Given the description of an element on the screen output the (x, y) to click on. 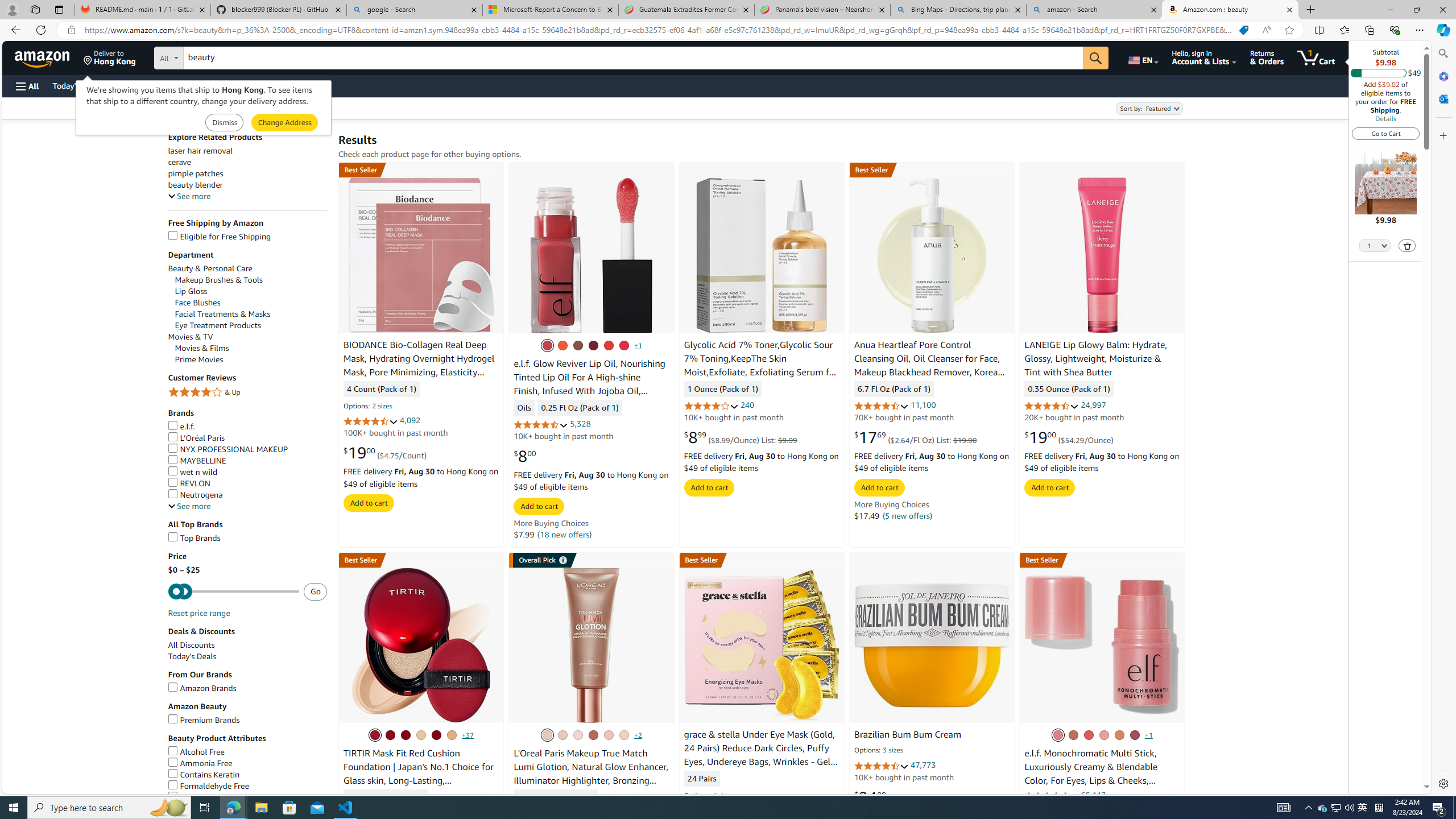
240 (746, 404)
Lip Gloss (191, 290)
Facial Treatments & Masks (250, 314)
Rose Envy (546, 344)
4,092 (410, 420)
65,113 (1093, 794)
Go (1096, 57)
Eligible for Free Shipping (247, 236)
Beauty & Personal Care (247, 268)
cerave (247, 162)
NYX PROFESSIONAL MAKEUP (247, 449)
